Given the description of an element on the screen output the (x, y) to click on. 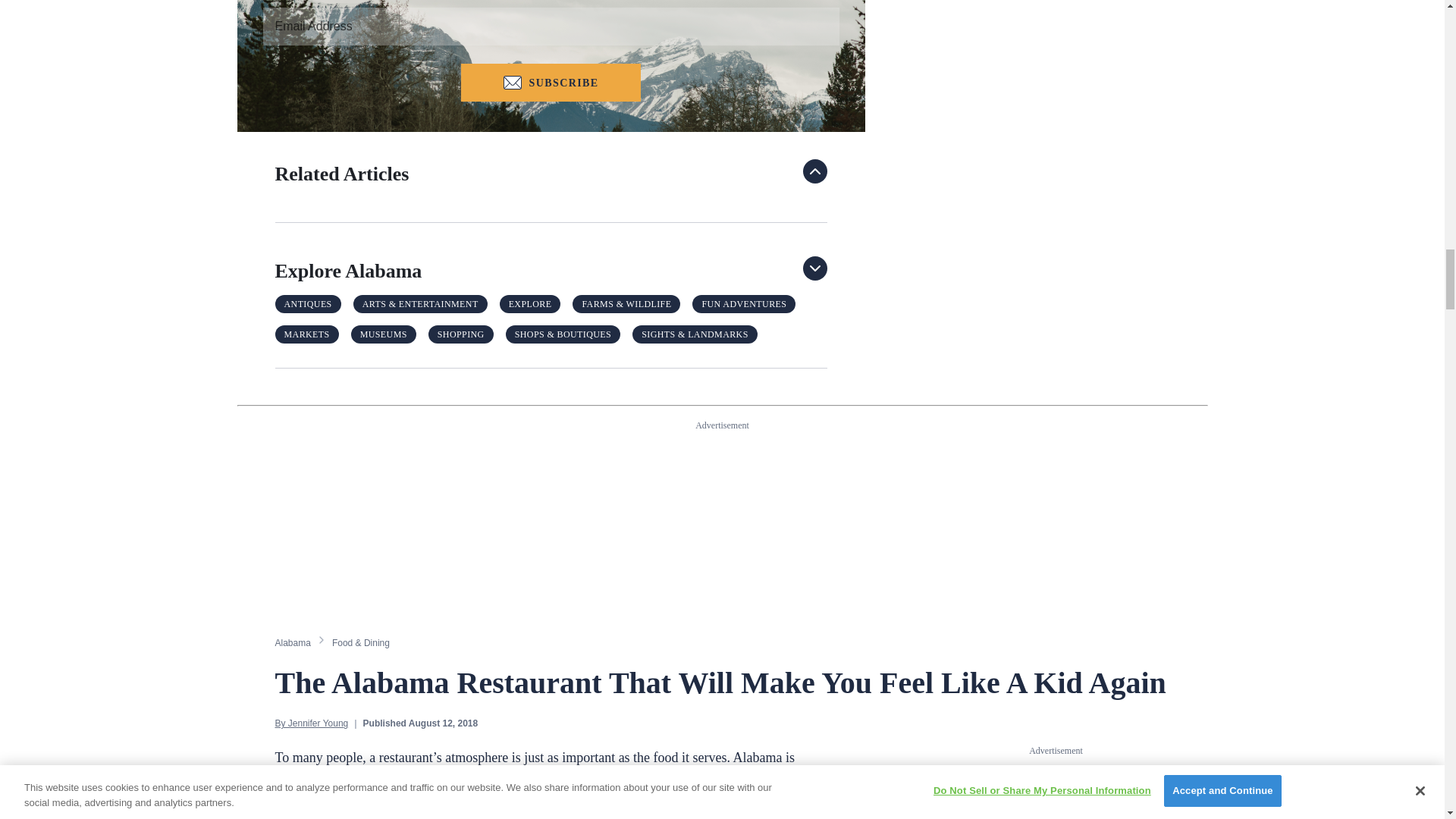
Markets (306, 334)
Fun Adventures (743, 303)
Explore (529, 303)
Museums (383, 334)
Antiques (307, 303)
